Given the description of an element on the screen output the (x, y) to click on. 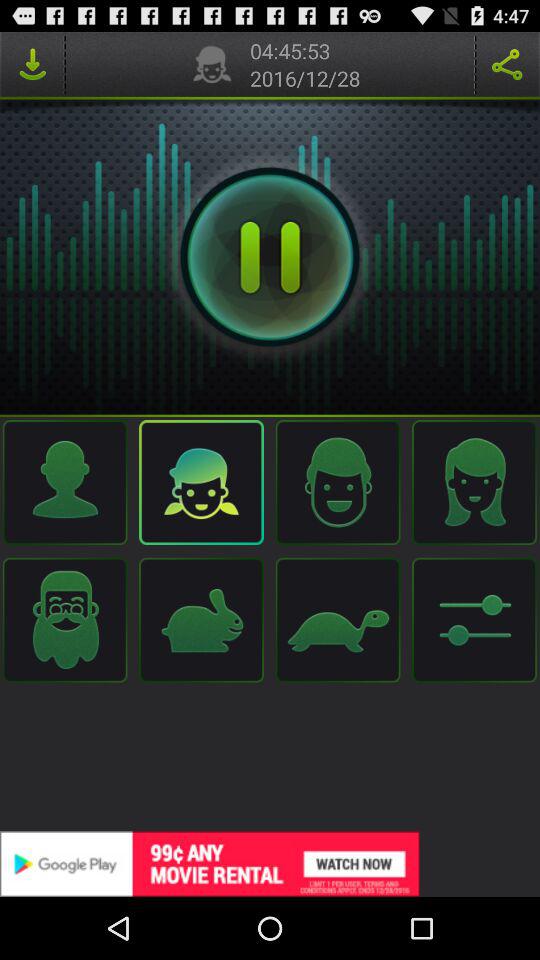
download option (32, 64)
